Given the description of an element on the screen output the (x, y) to click on. 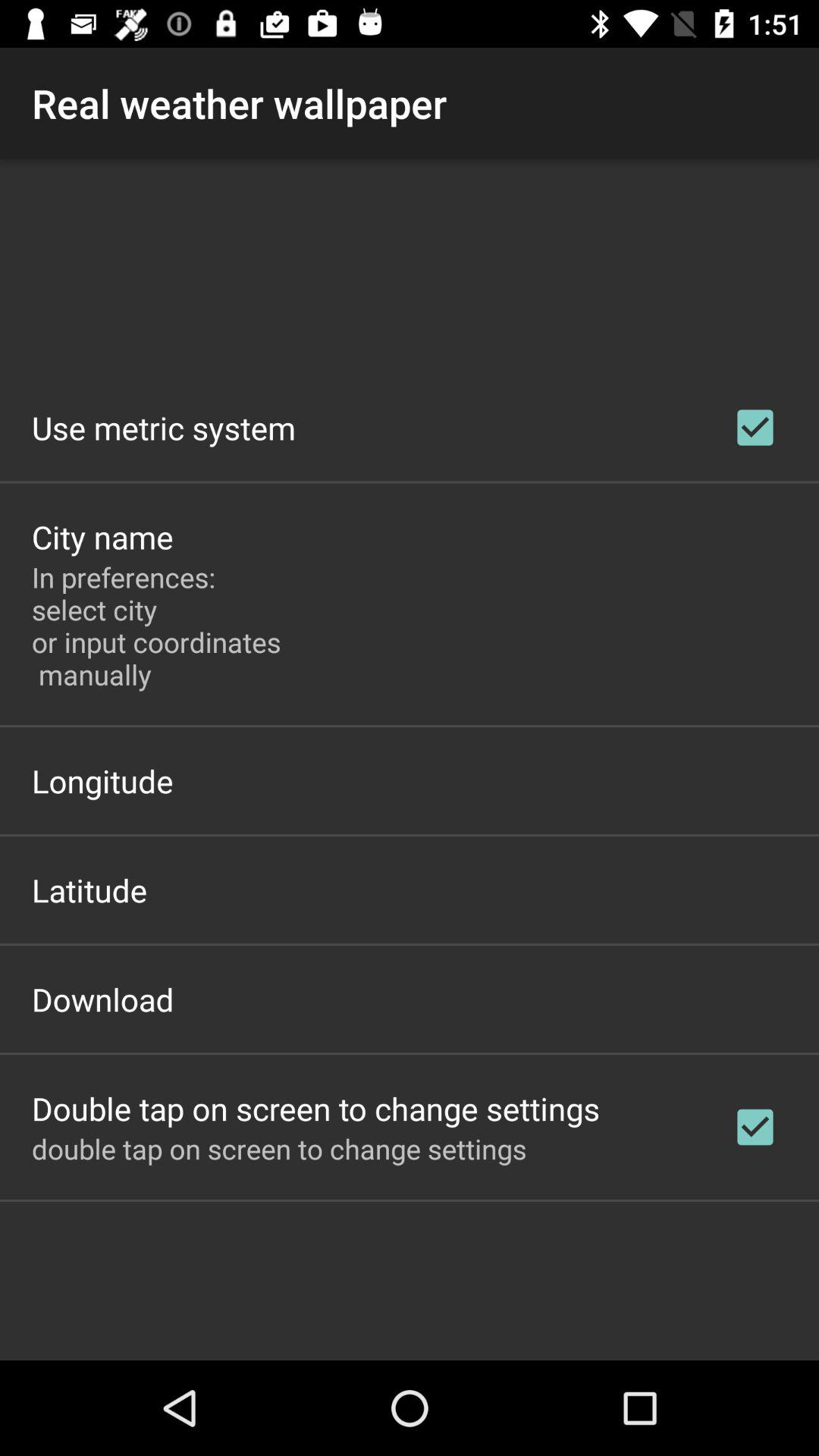
launch the app above latitude (102, 780)
